Given the description of an element on the screen output the (x, y) to click on. 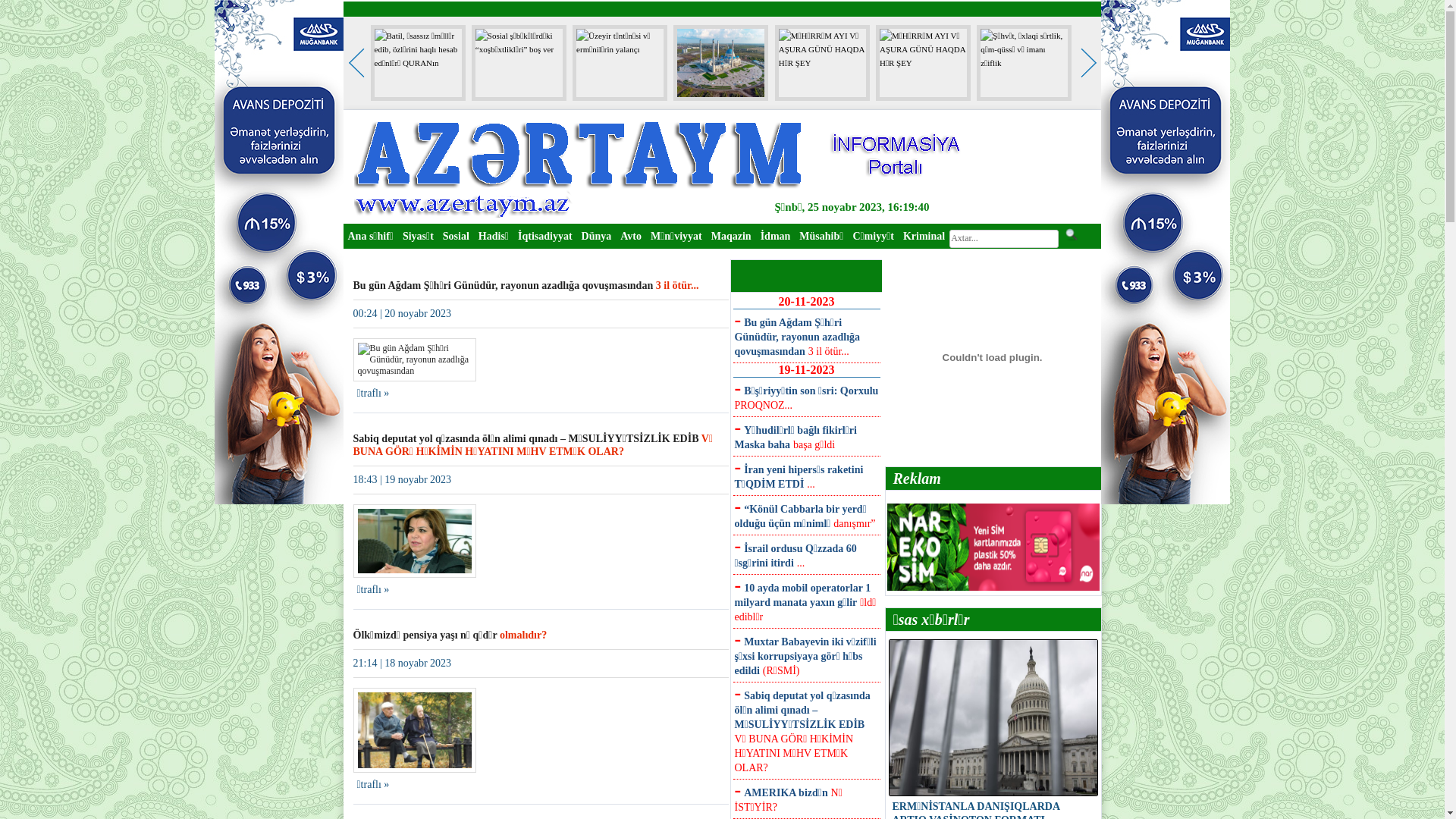
Maqazin Element type: text (731, 235)
18 noyabr 2023 Element type: text (417, 662)
21:14 | Element type: text (369, 662)
18:43 | Element type: text (369, 479)
20 noyabr 2023 Element type: text (417, 313)
Sosial Element type: text (455, 235)
Kriminal Element type: text (923, 235)
Avto Element type: text (630, 235)
19 noyabr 2023 Element type: text (417, 479)
00:24 | Element type: text (369, 313)
